Given the description of an element on the screen output the (x, y) to click on. 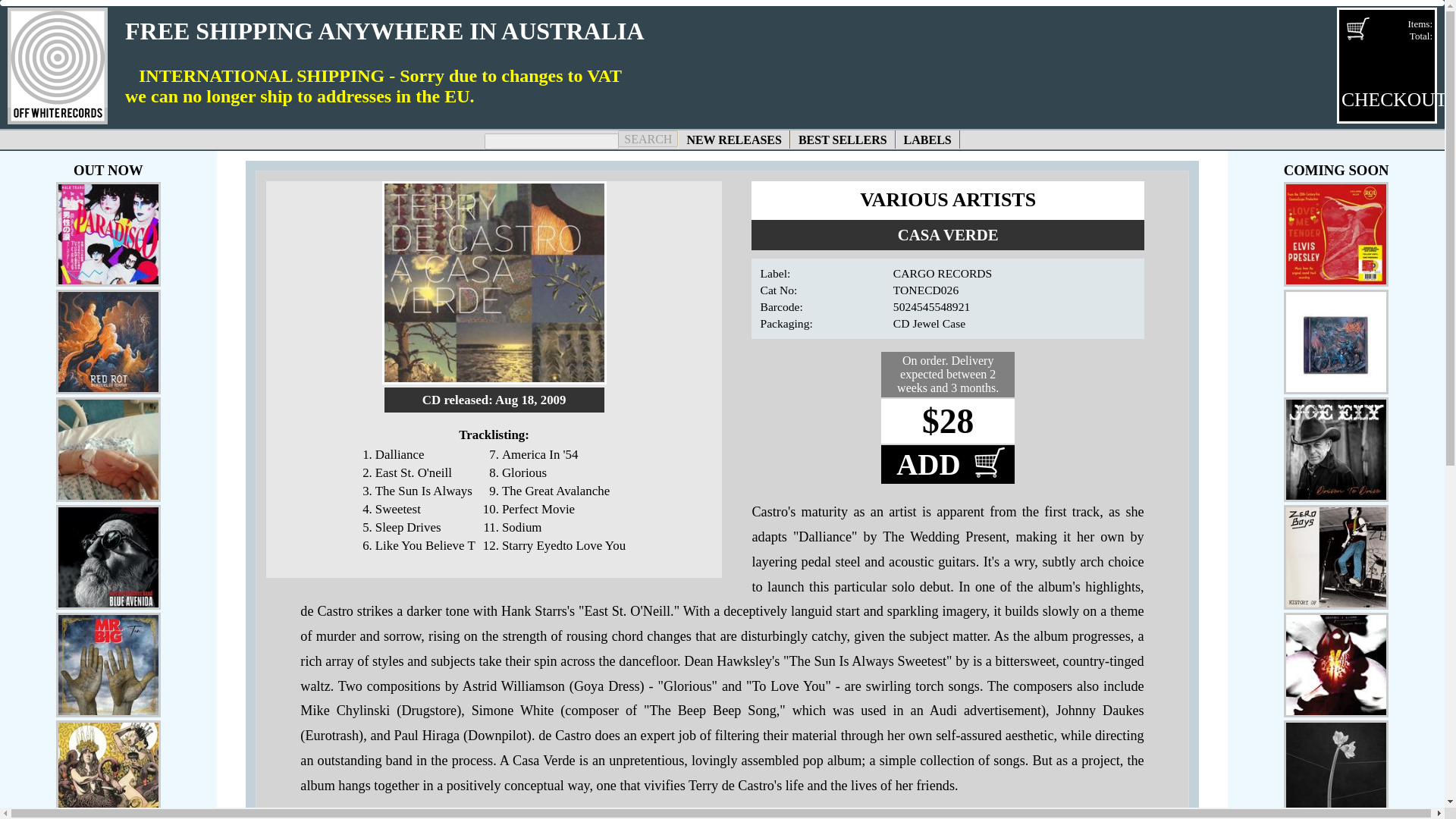
BEST SELLERS (842, 139)
SEARCH (647, 138)
SEARCH (1386, 64)
NEW RELEASES (647, 138)
LABELS (734, 139)
Add to Cart (927, 139)
